Given the description of an element on the screen output the (x, y) to click on. 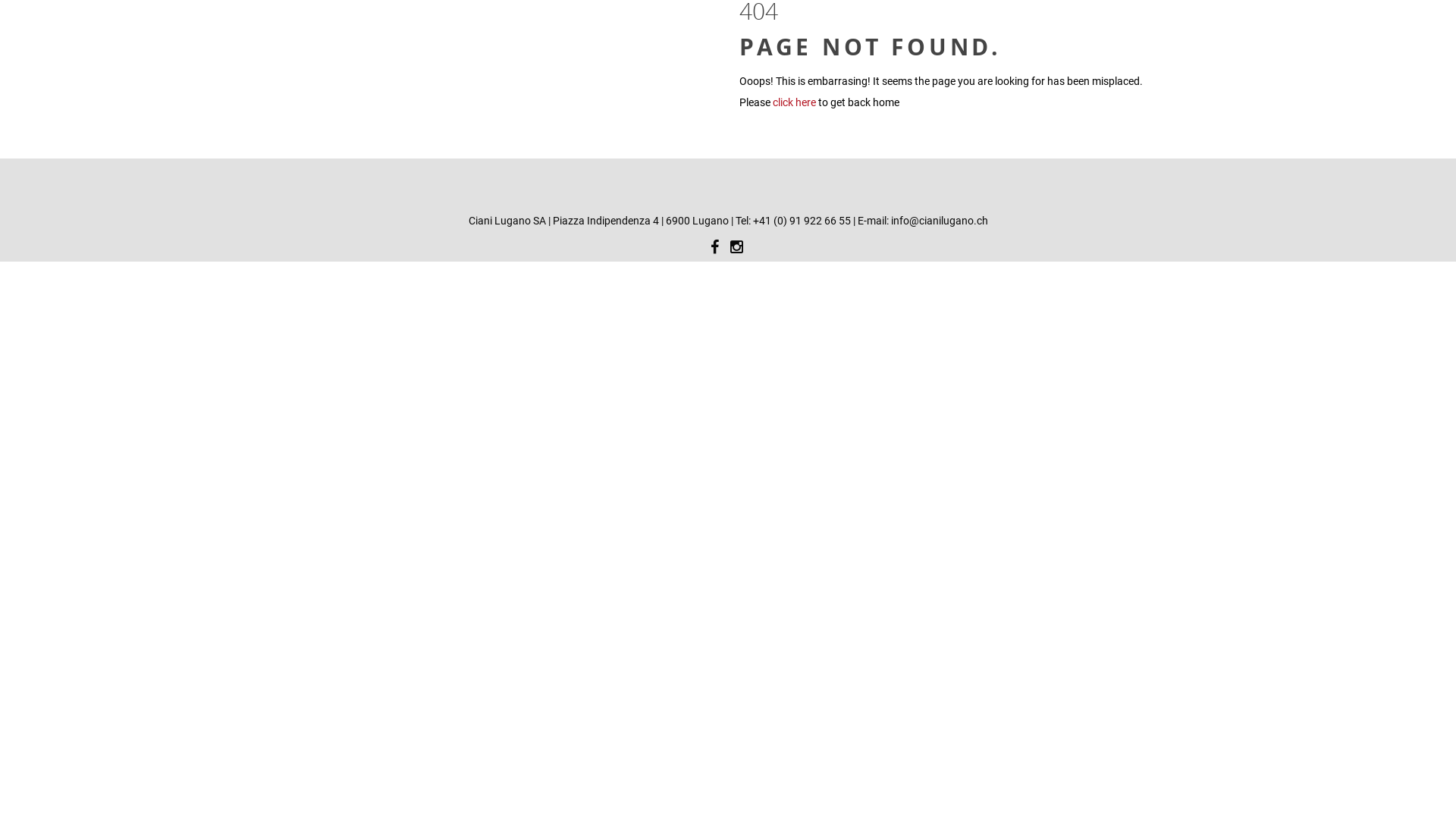
click here Element type: text (793, 102)
info@cianilugano.ch Element type: text (938, 220)
